Given the description of an element on the screen output the (x, y) to click on. 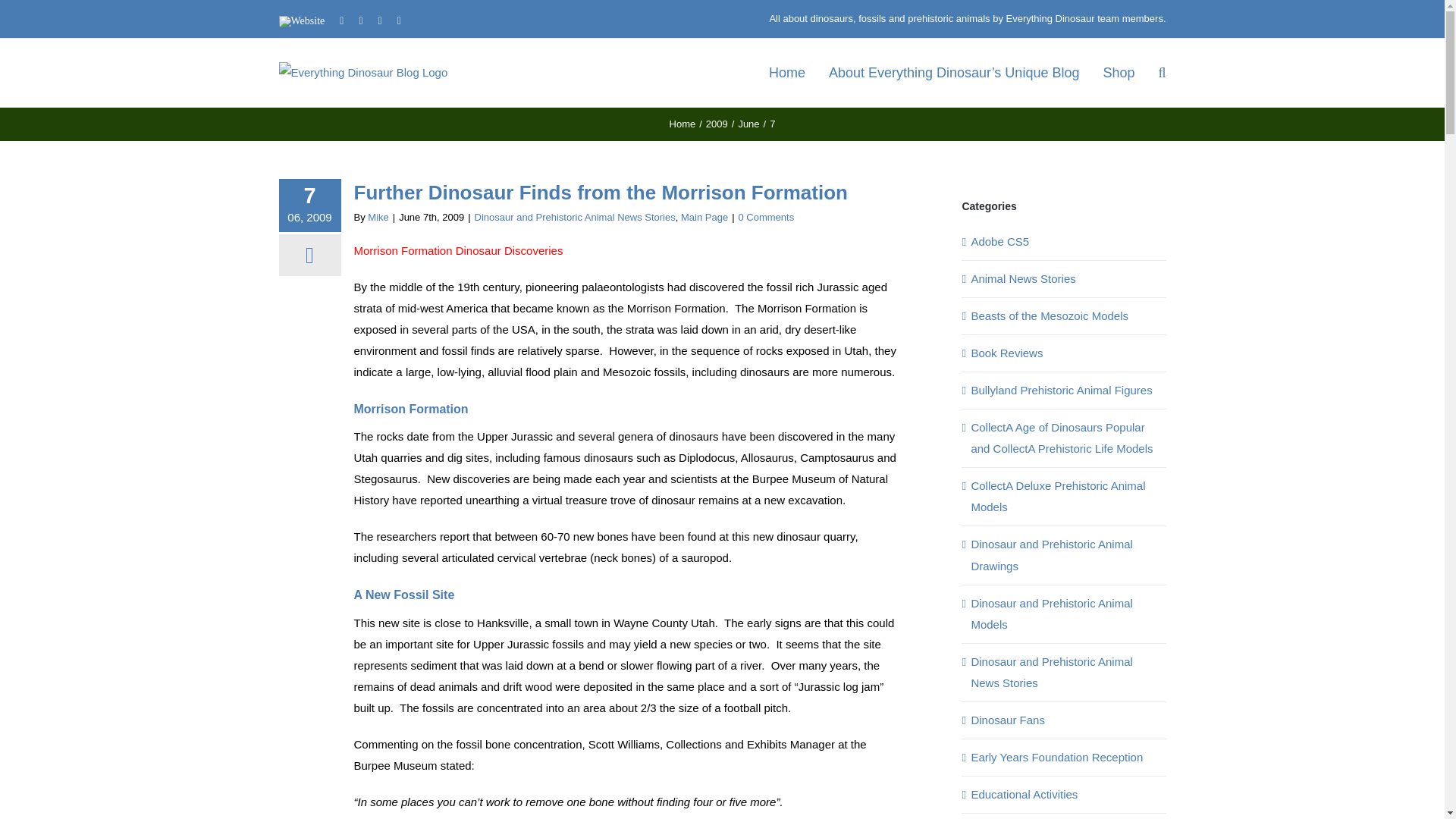
Animal News Stories (1064, 278)
2009 (717, 123)
0 Comments (766, 216)
Educational Activities (1064, 794)
Website (301, 20)
Dinosaur and Prehistoric Animal News Stories (1064, 672)
Dinosaur and Prehistoric Animal Drawings (1064, 554)
Main Page (704, 216)
CollectA Deluxe Prehistoric Animal Models (1064, 496)
Mike (378, 216)
Home (682, 123)
June (748, 123)
Dinosaur and Prehistoric Animal News Stories (574, 216)
Book Reviews (1064, 353)
